Given the description of an element on the screen output the (x, y) to click on. 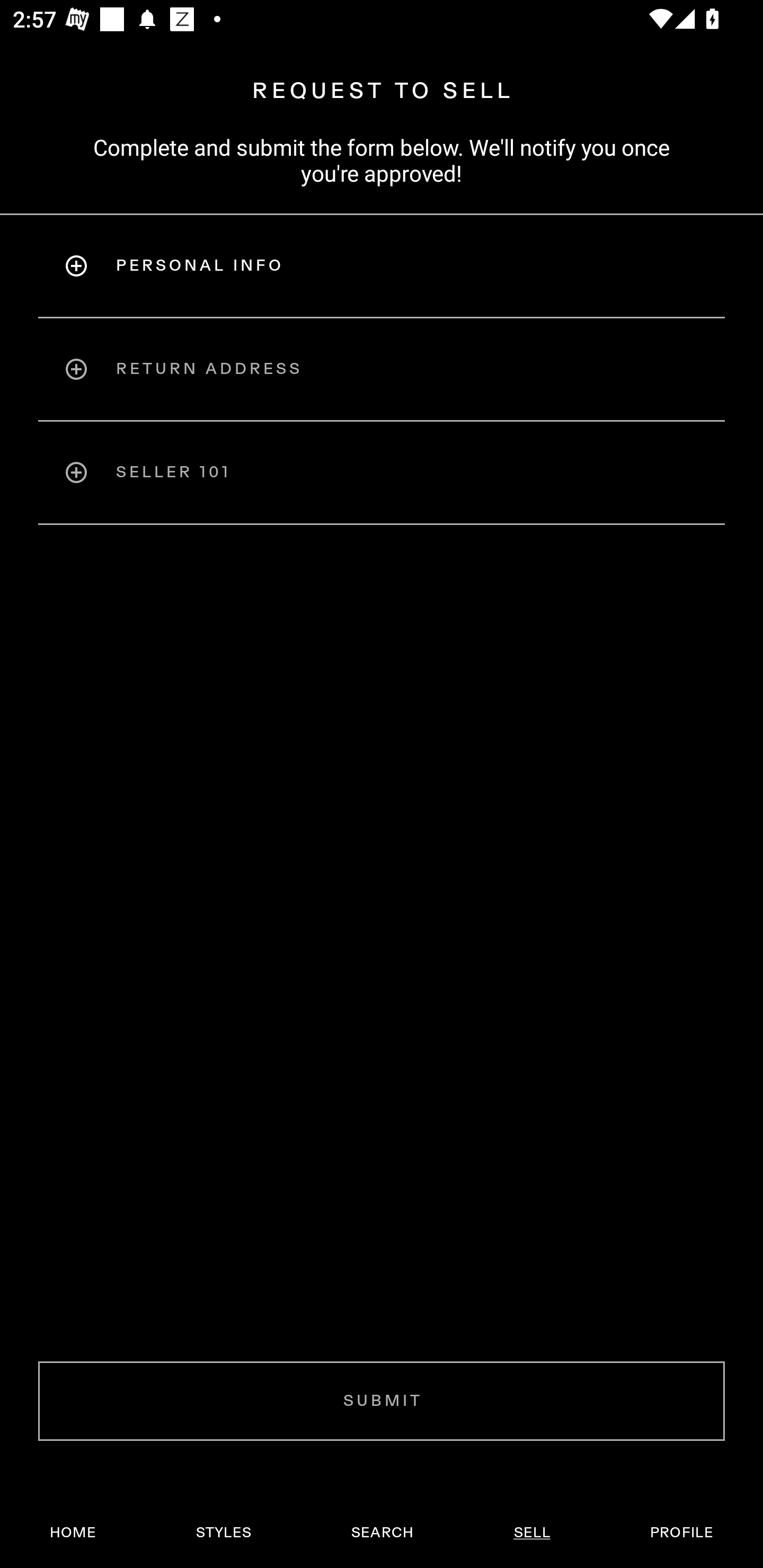
PERSONAL INFO (381, 265)
RETURN ADDRESS (381, 369)
SELLER 101 (381, 472)
SUBMIT (381, 1400)
HOME (72, 1532)
STYLES (222, 1532)
SEARCH (381, 1532)
SELL (531, 1532)
PROFILE (681, 1532)
